Given the description of an element on the screen output the (x, y) to click on. 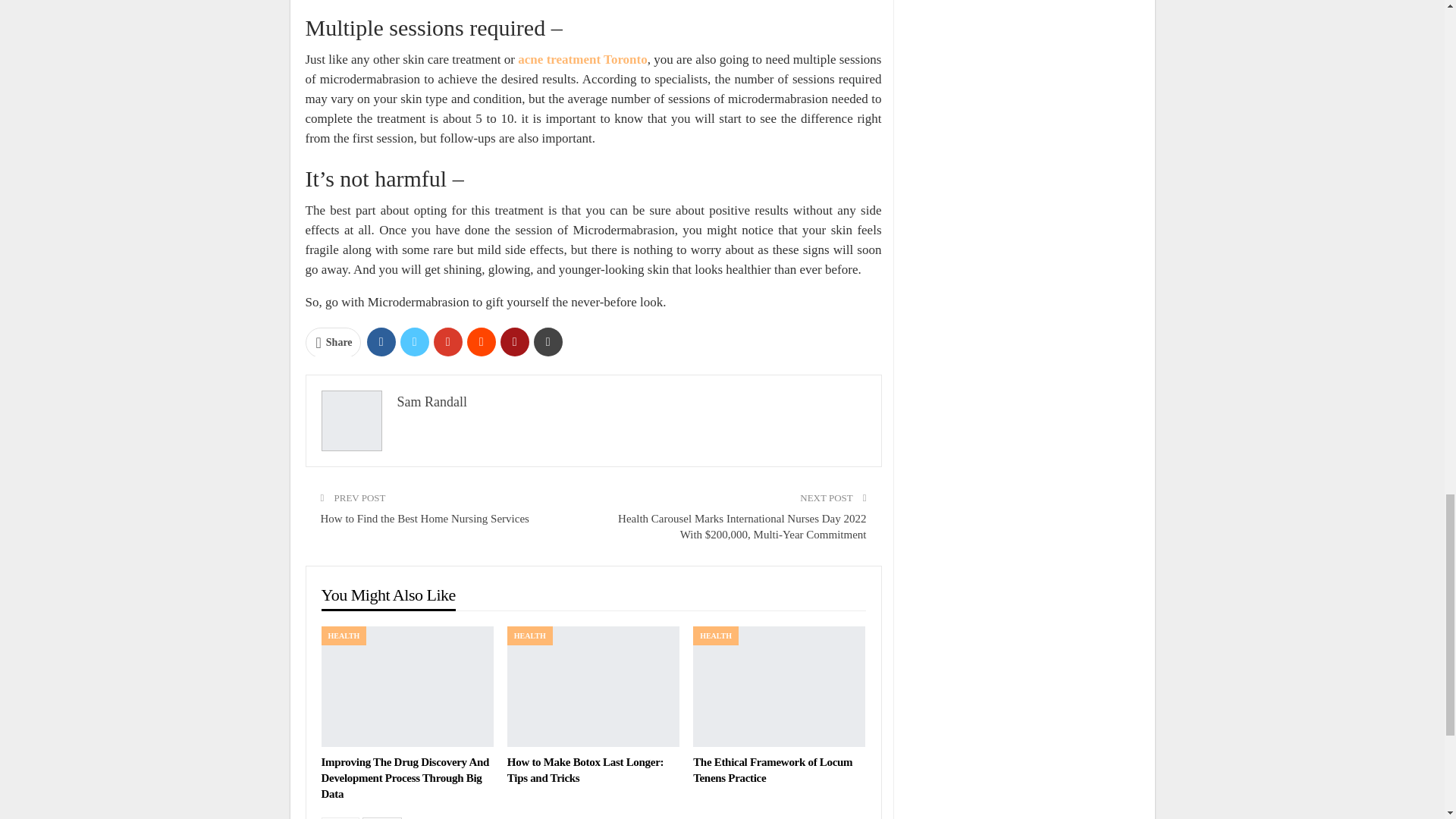
How to Make Botox Last Longer: Tips and Tricks (592, 686)
The Ethical Framework of Locum Tenens Practice (778, 686)
acne treatment Toronto (582, 59)
How to Make Botox Last Longer: Tips and Tricks (584, 769)
The Ethical Framework of Locum Tenens Practice (772, 769)
Previous (340, 818)
Next (381, 818)
